Given the description of an element on the screen output the (x, y) to click on. 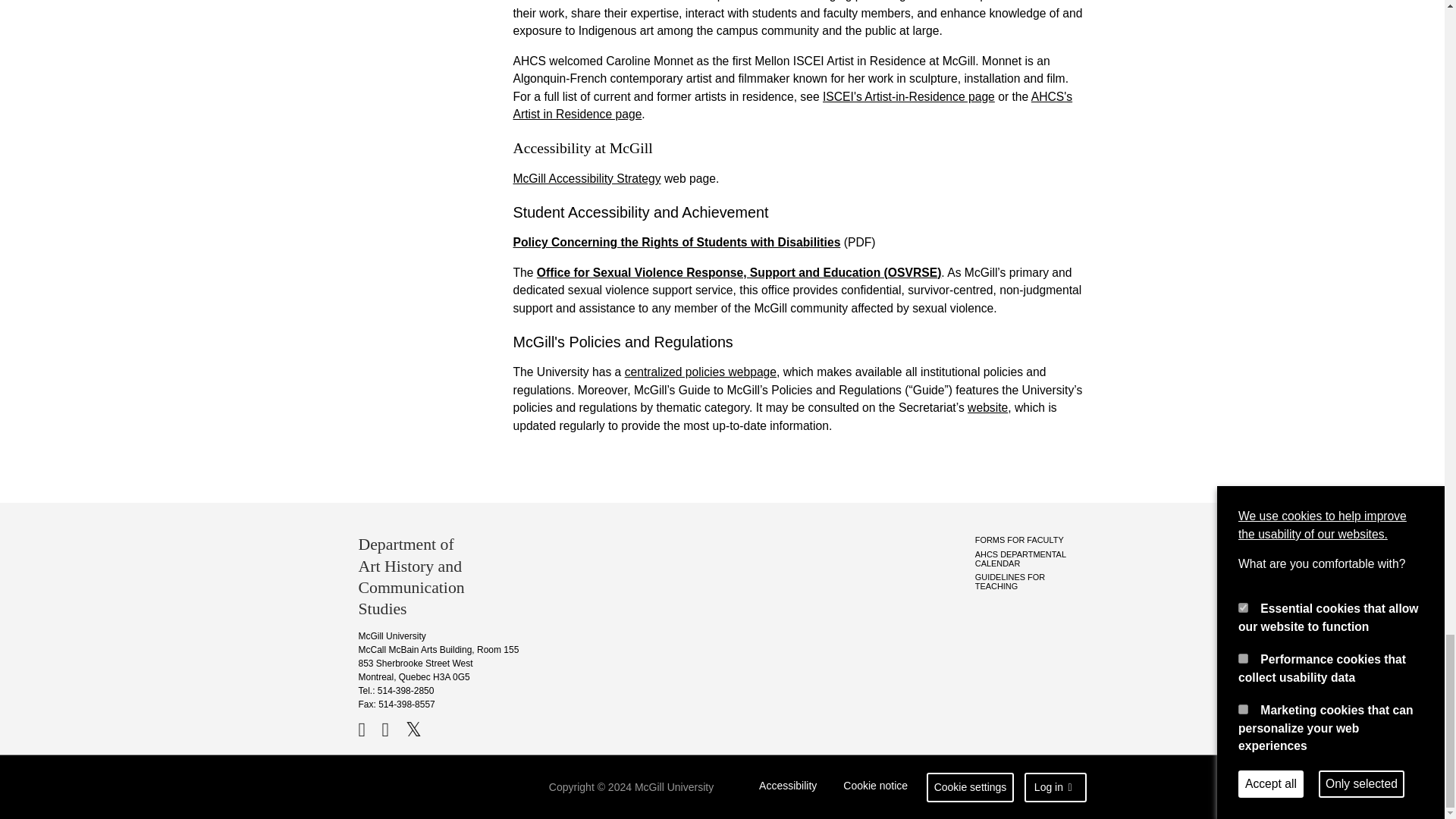
Follow us on Instagram (392, 729)
ISCEI's Artist-in-Residence page (908, 96)
website (987, 407)
centralized policies webpage (700, 371)
AHCS's Artist in Residence page (791, 105)
McGill Accessibility Strategy (586, 178)
Accessibility (788, 787)
Follow us on X (414, 729)
return to McGill University (417, 786)
Policy Concerning the Rights of Students with Disabilities (676, 241)
Follow us on Facebook (368, 729)
Cookie notice (875, 787)
